Given the description of an element on the screen output the (x, y) to click on. 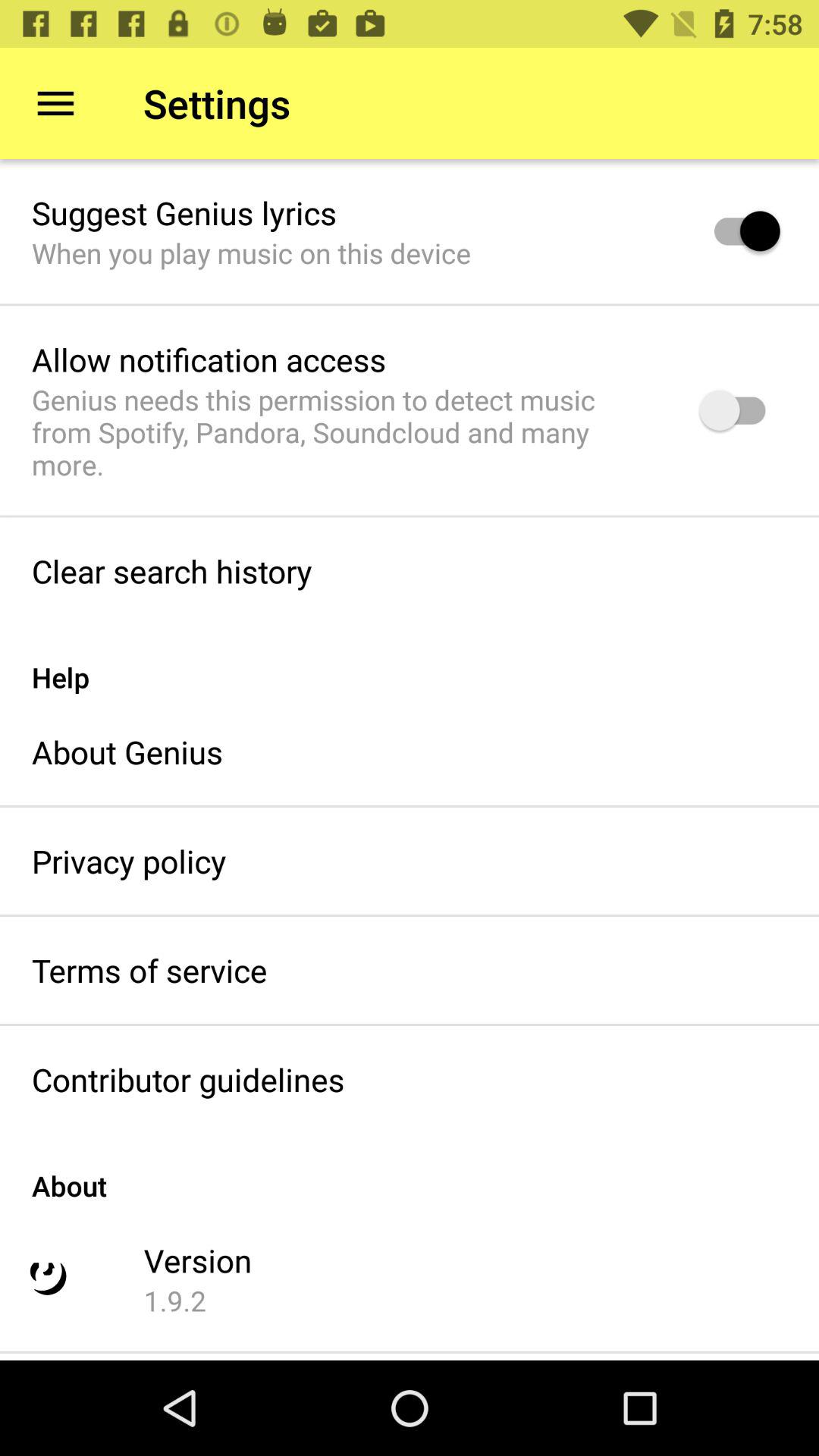
press the clear search history (171, 570)
